Given the description of an element on the screen output the (x, y) to click on. 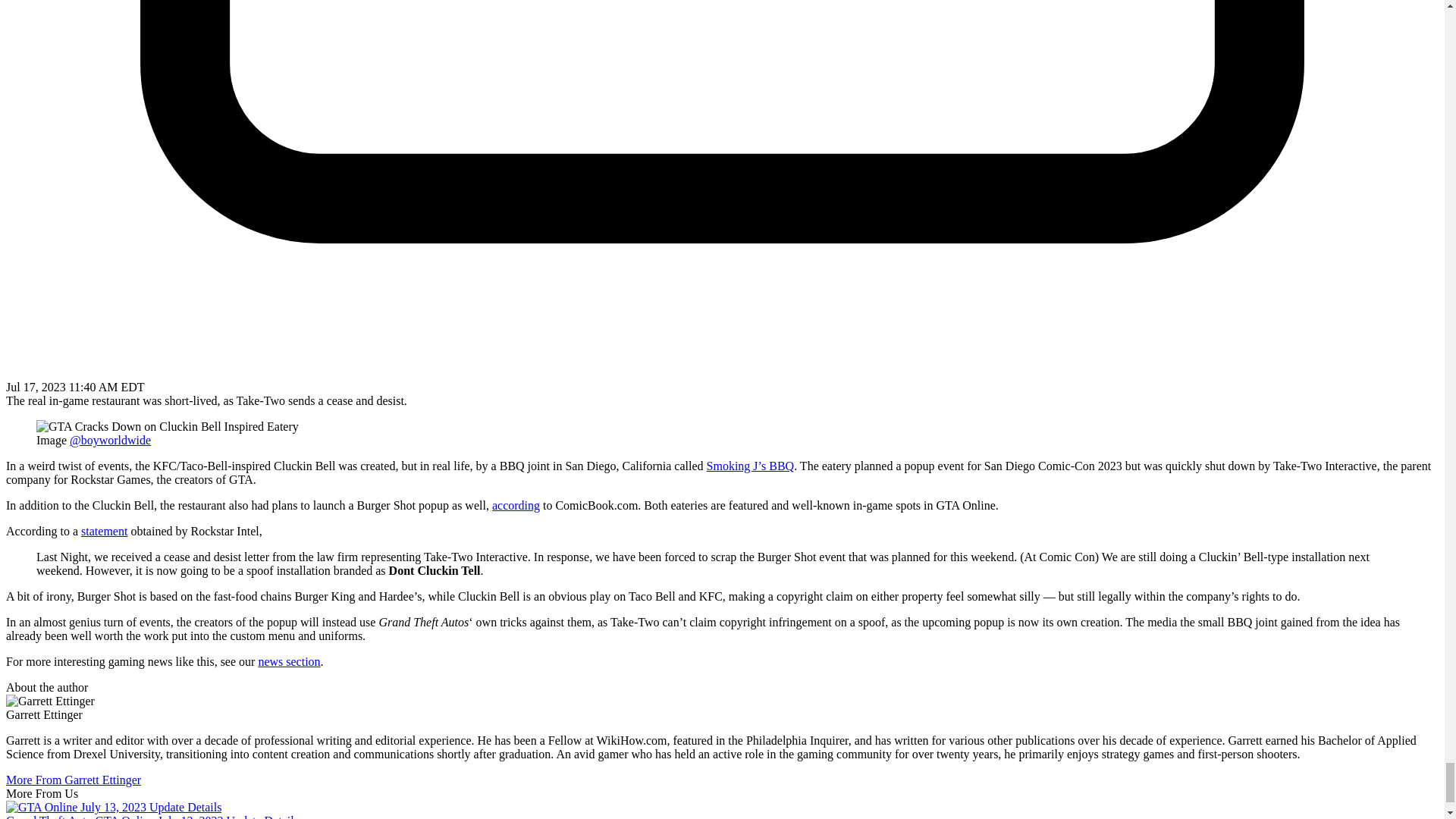
news section (288, 661)
statement (104, 530)
according (516, 504)
More From Garrett Ettinger (73, 779)
GTA Online July 13, 2023 Update Details (196, 816)
Grand Theft Auto (48, 816)
